Given the description of an element on the screen output the (x, y) to click on. 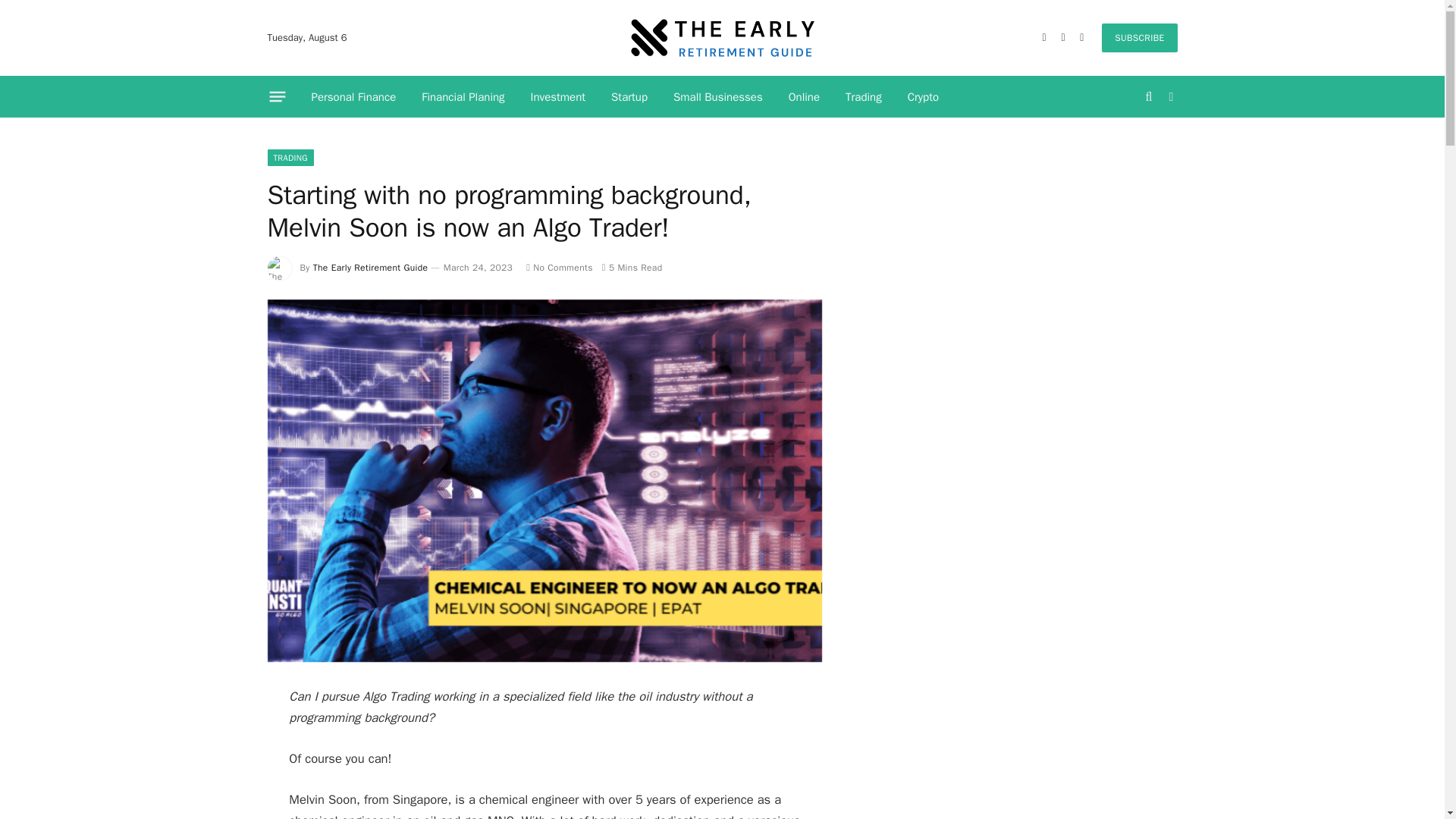
Small Businesses (718, 96)
Posts by The Early Retirement Guide (370, 267)
Investment (558, 96)
Switch to Dark Design - easier on eyes. (1169, 96)
TRADING (289, 157)
Financial Planing (462, 96)
The Early Retirement Guide (370, 267)
SUBSCRIBE (1139, 37)
Startup (629, 96)
